Given the description of an element on the screen output the (x, y) to click on. 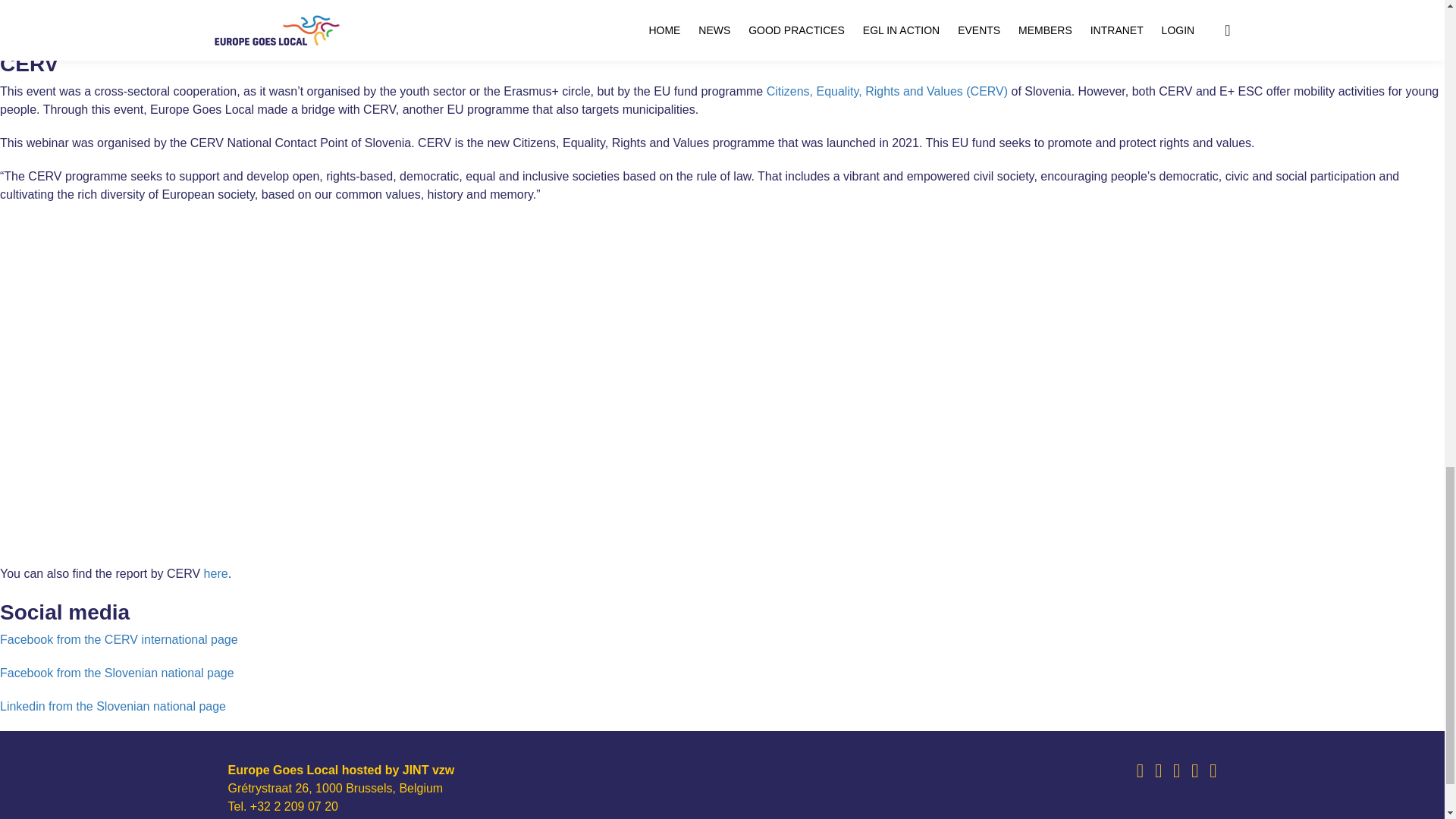
Facebook from the CERV international page (119, 639)
here (215, 573)
Linkedin from the Slovenian national page (112, 706)
Facebook from the Slovenian national page (117, 672)
